Given the description of an element on the screen output the (x, y) to click on. 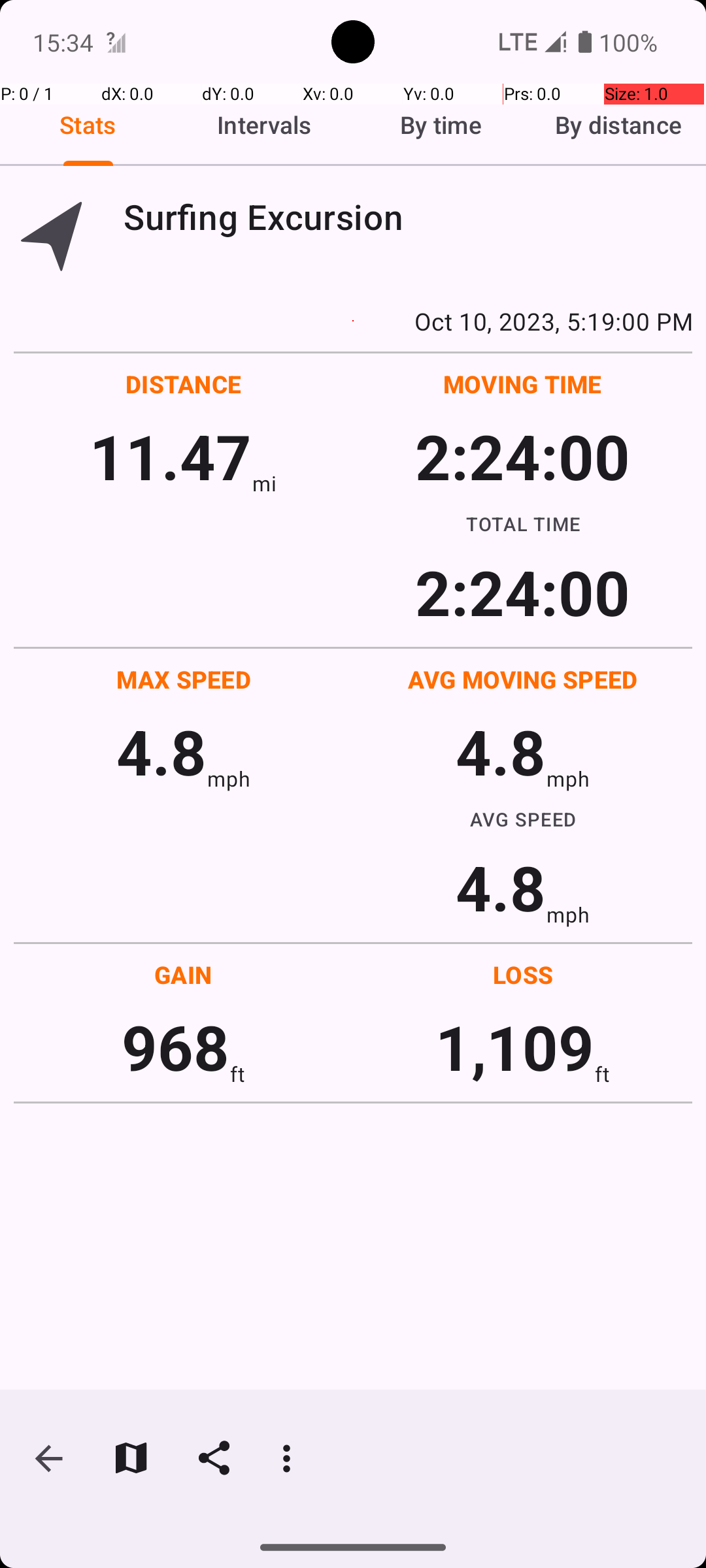
Surfing Excursion Element type: android.widget.TextView (407, 216)
Oct 10, 2023, 5:19:00 PM Element type: android.widget.TextView (352, 320)
11.47 Element type: android.widget.TextView (170, 455)
2:24:00 Element type: android.widget.TextView (522, 455)
4.8 Element type: android.widget.TextView (161, 750)
968 Element type: android.widget.TextView (175, 1045)
1,109 Element type: android.widget.TextView (514, 1045)
